Given the description of an element on the screen output the (x, y) to click on. 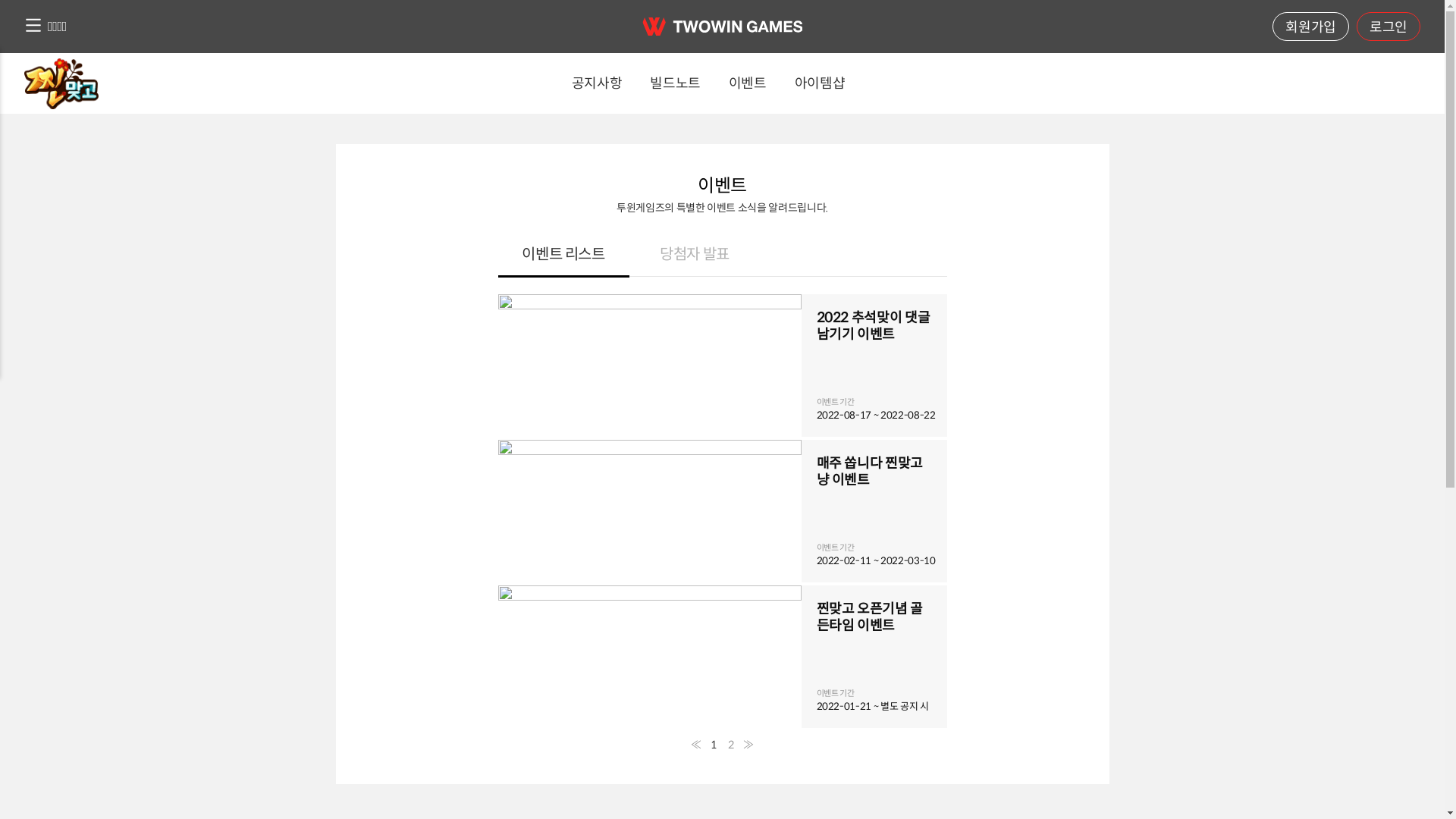
2 Element type: text (730, 744)
1 Element type: text (713, 744)
